Given the description of an element on the screen output the (x, y) to click on. 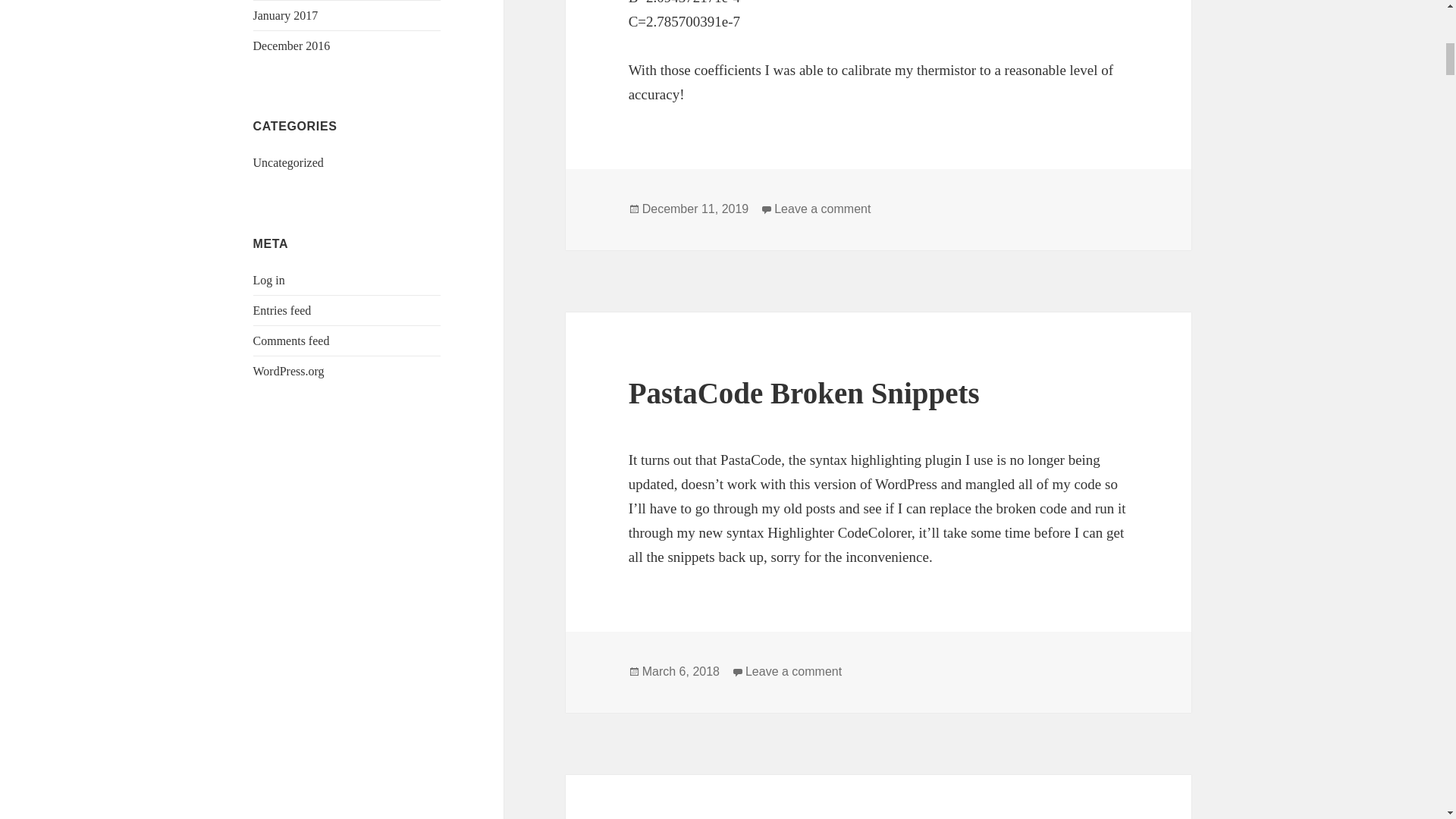
Log in (269, 279)
Comments feed (291, 340)
WordPress.org (822, 209)
March 6, 2018 (288, 370)
December 11, 2019 (680, 671)
January 2017 (695, 209)
PastaCode Broken Snippets (285, 15)
December 2016 (803, 392)
Uncategorized (291, 45)
